Given the description of an element on the screen output the (x, y) to click on. 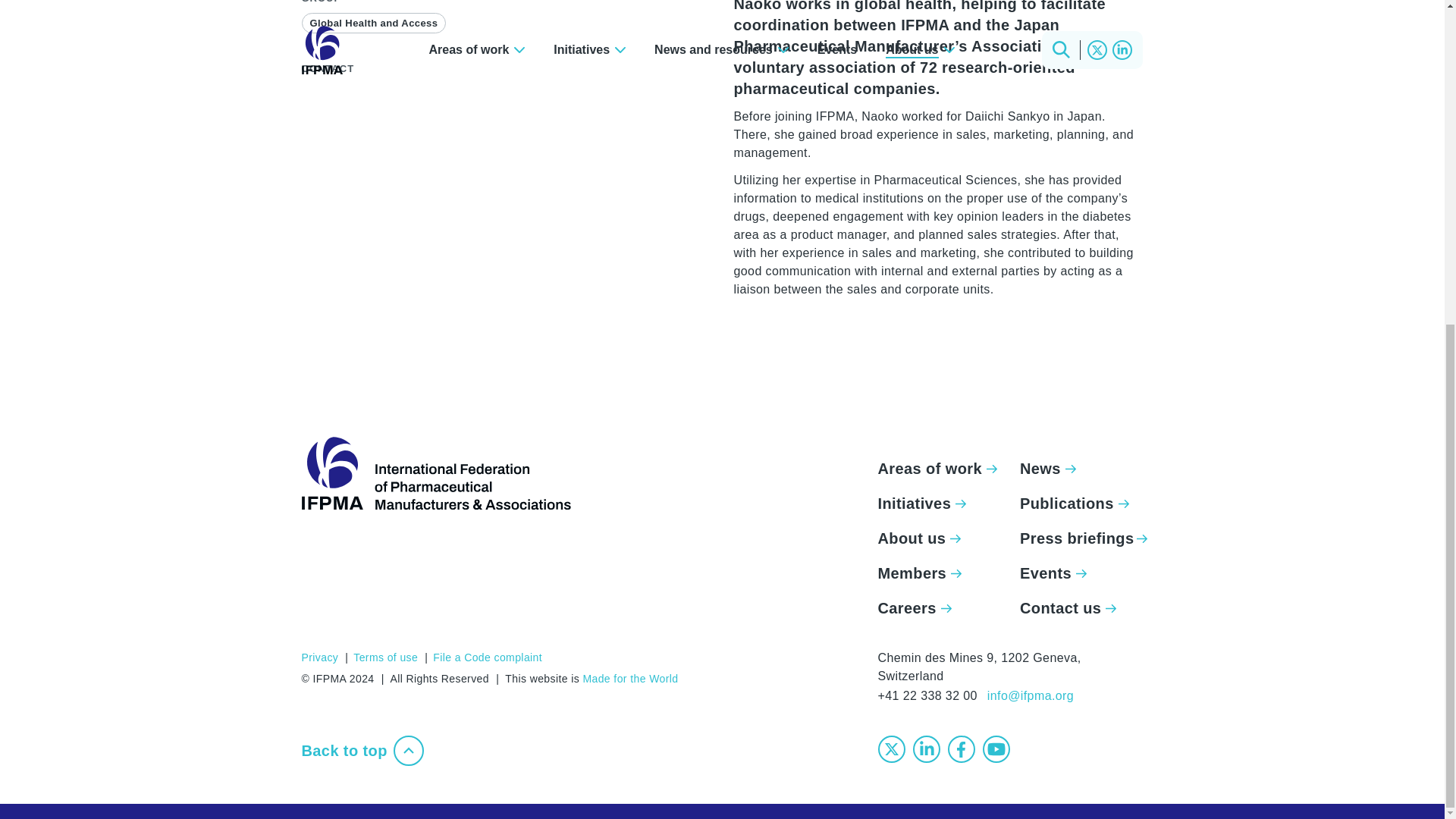
IFPMA (435, 472)
